Given the description of an element on the screen output the (x, y) to click on. 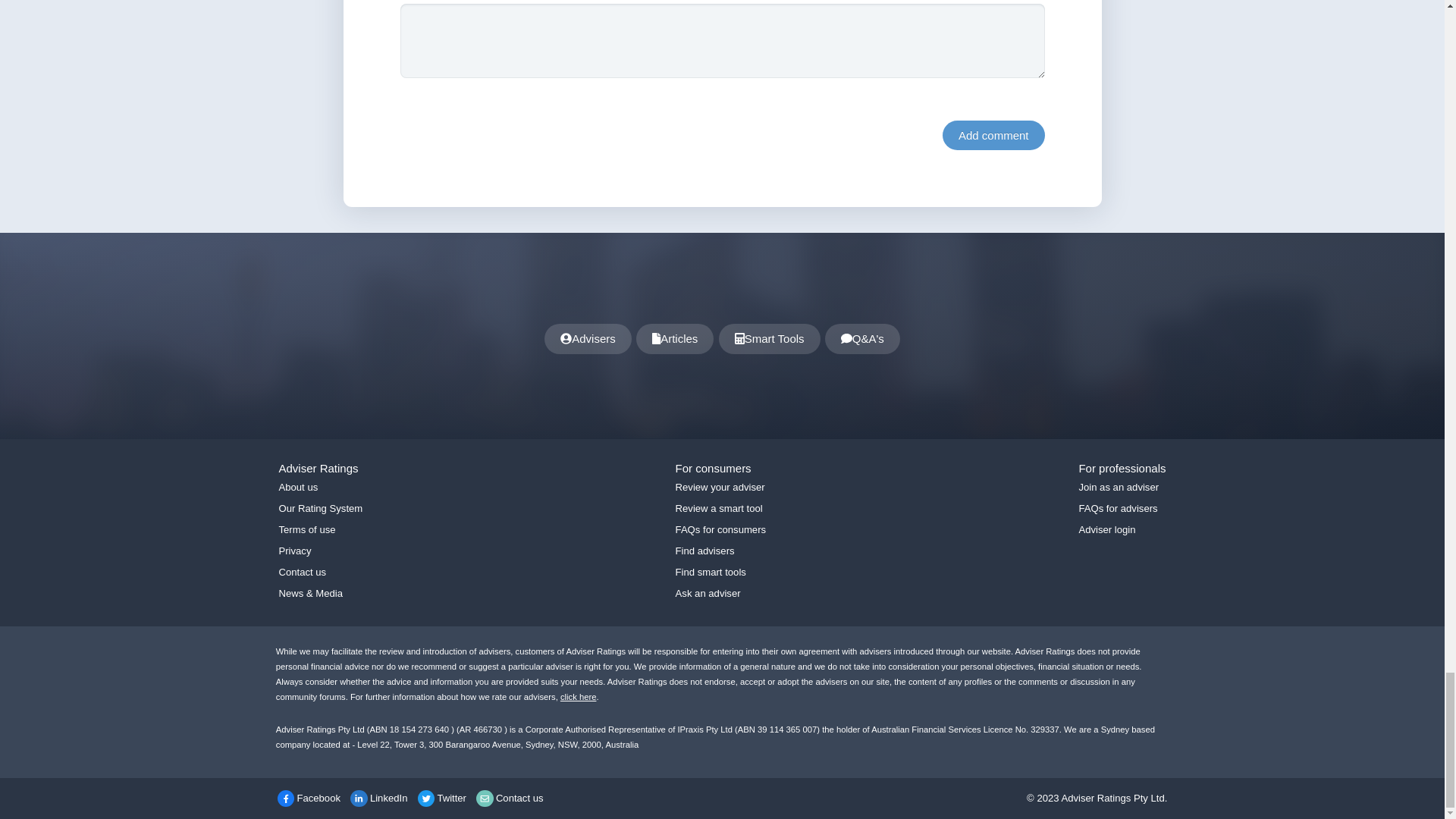
Privacy (295, 550)
About us (298, 487)
Smart Tools (770, 338)
The Rating System (578, 696)
Articles (674, 338)
Advisers (587, 338)
Add comment (993, 135)
Our Rating System (320, 508)
Terms of use (307, 529)
